Given the description of an element on the screen output the (x, y) to click on. 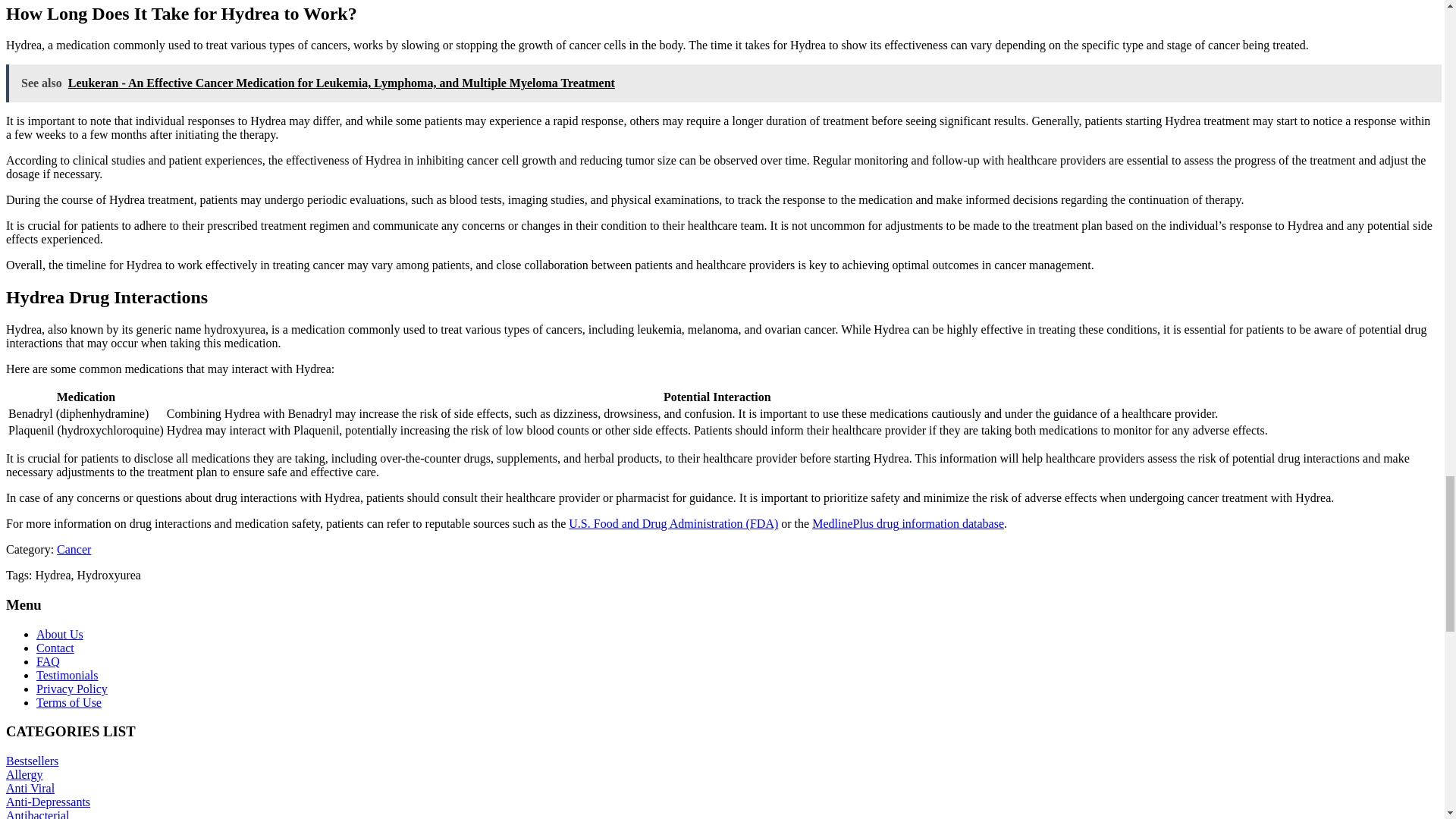
Privacy Policy (71, 688)
Contact (55, 647)
Testimonials (67, 675)
FAQ (47, 661)
Cancer (73, 549)
Terms of Use (68, 702)
About Us (59, 634)
MedlinePlus drug information database (908, 522)
